Given the description of an element on the screen output the (x, y) to click on. 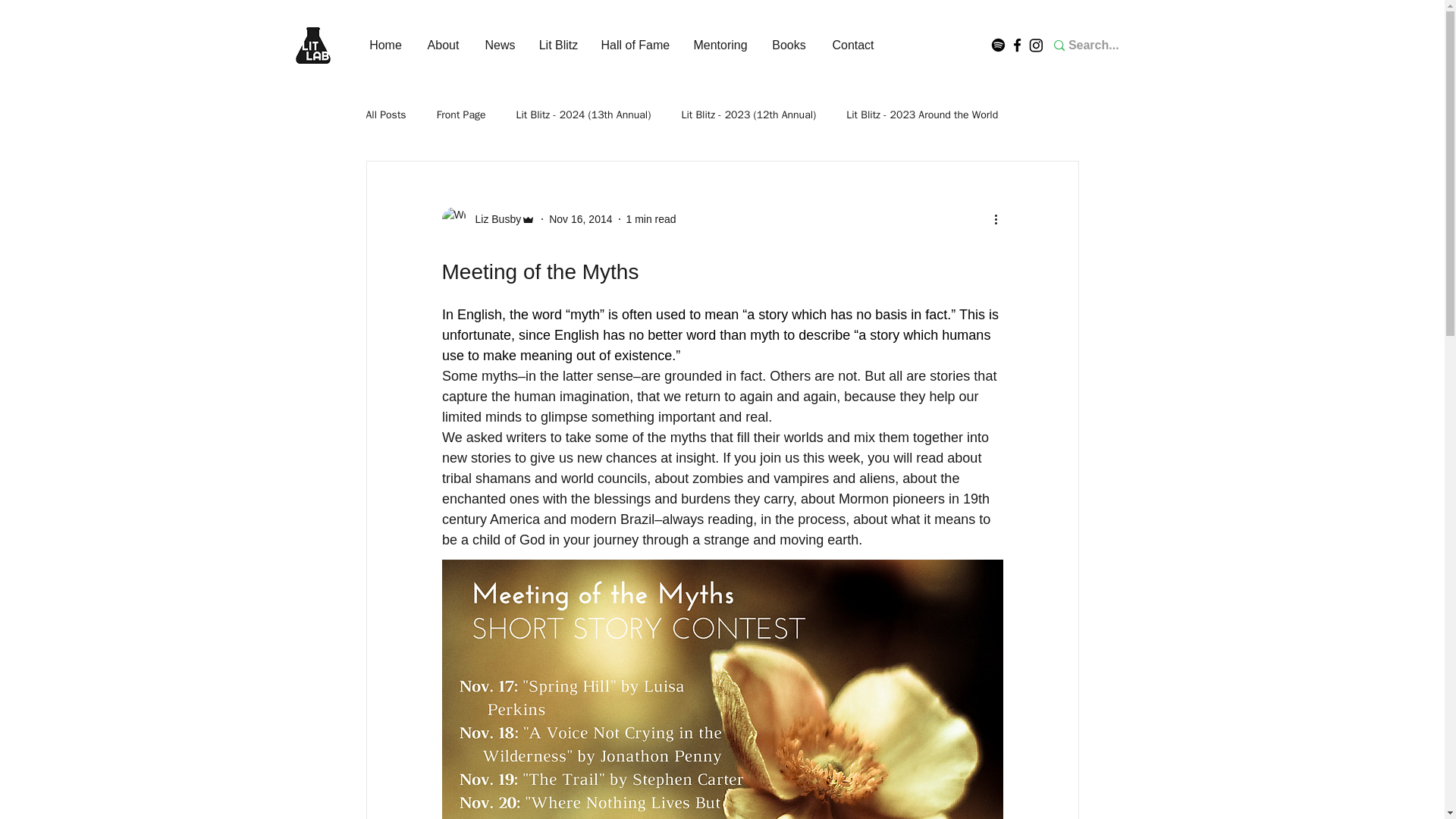
Hall of Fame (635, 45)
Lit Blitz (558, 45)
Nov 16, 2014 (579, 218)
News (500, 45)
Contact (852, 45)
All Posts (385, 115)
About (443, 45)
Home (385, 45)
1 min read (651, 218)
Liz Busby (488, 218)
Liz Busby (493, 218)
Lit Blitz - 2023 Around the World (921, 115)
Mentoring (720, 45)
Books (788, 45)
Front Page (461, 115)
